Given the description of an element on the screen output the (x, y) to click on. 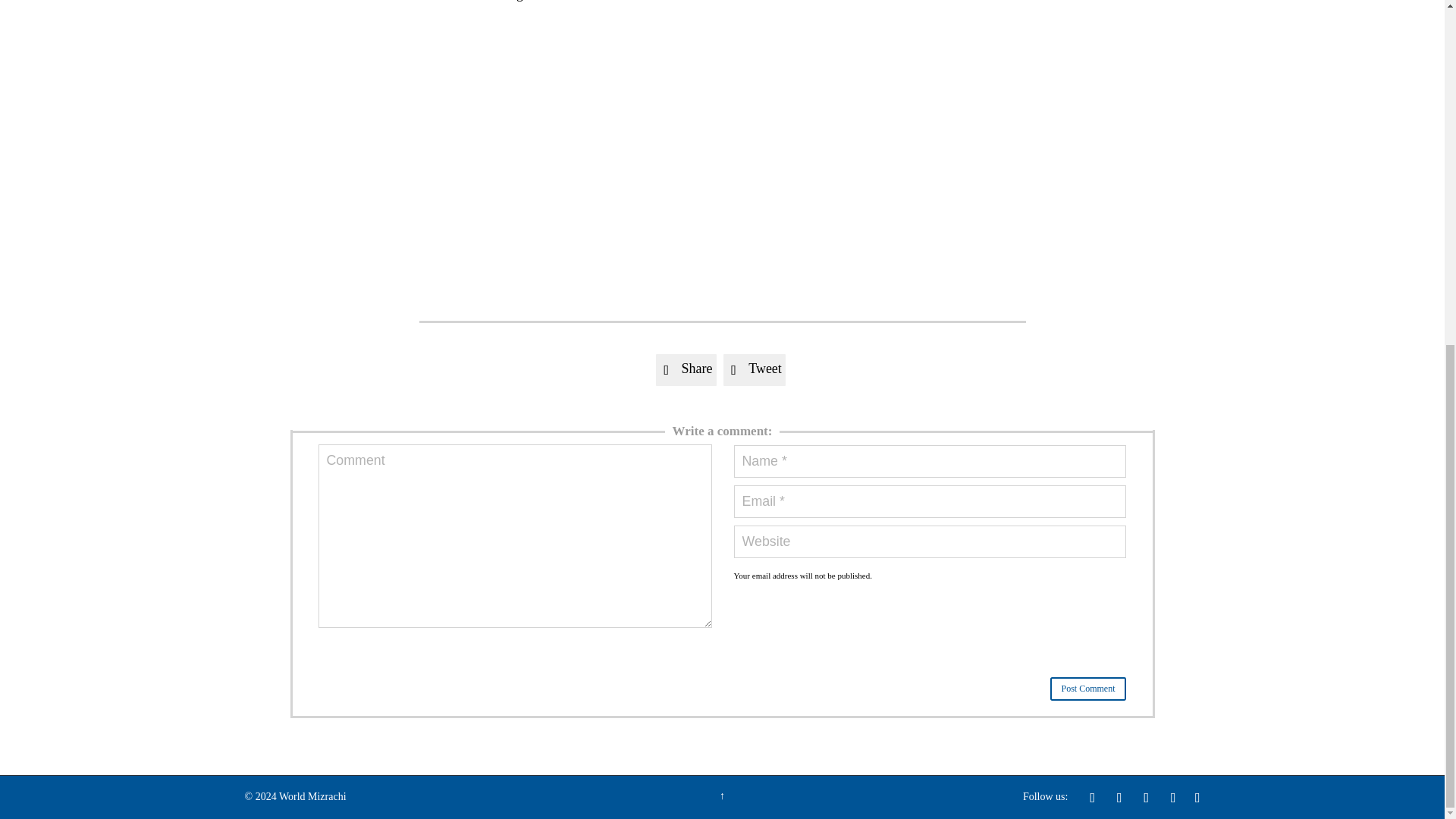
Share on Facebook (686, 368)
Share on Twitter (754, 368)
Post Comment (1087, 689)
